Given the description of an element on the screen output the (x, y) to click on. 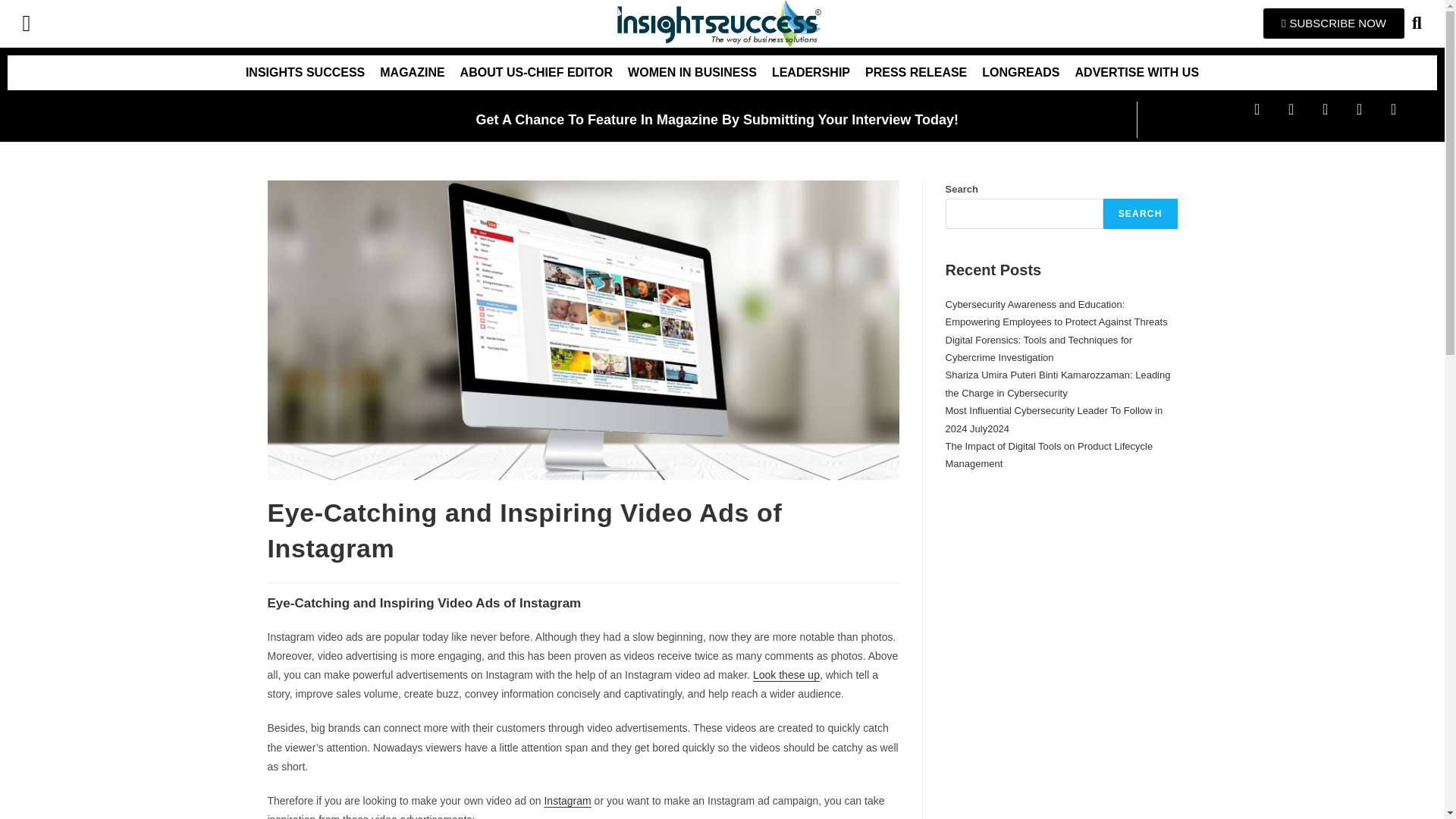
INSIGHTS SUCCESS (305, 72)
WOMEN IN BUSINESS (692, 72)
The Impact of Digital Tools on Product Lifecycle Management (1048, 454)
SUBSCRIBE NOW (1334, 23)
SEARCH (1140, 214)
Instagram (567, 800)
Look these up (785, 674)
ADVERTISE WITH US (1137, 72)
MAGAZINE (411, 72)
LONGREADS (1020, 72)
